Given the description of an element on the screen output the (x, y) to click on. 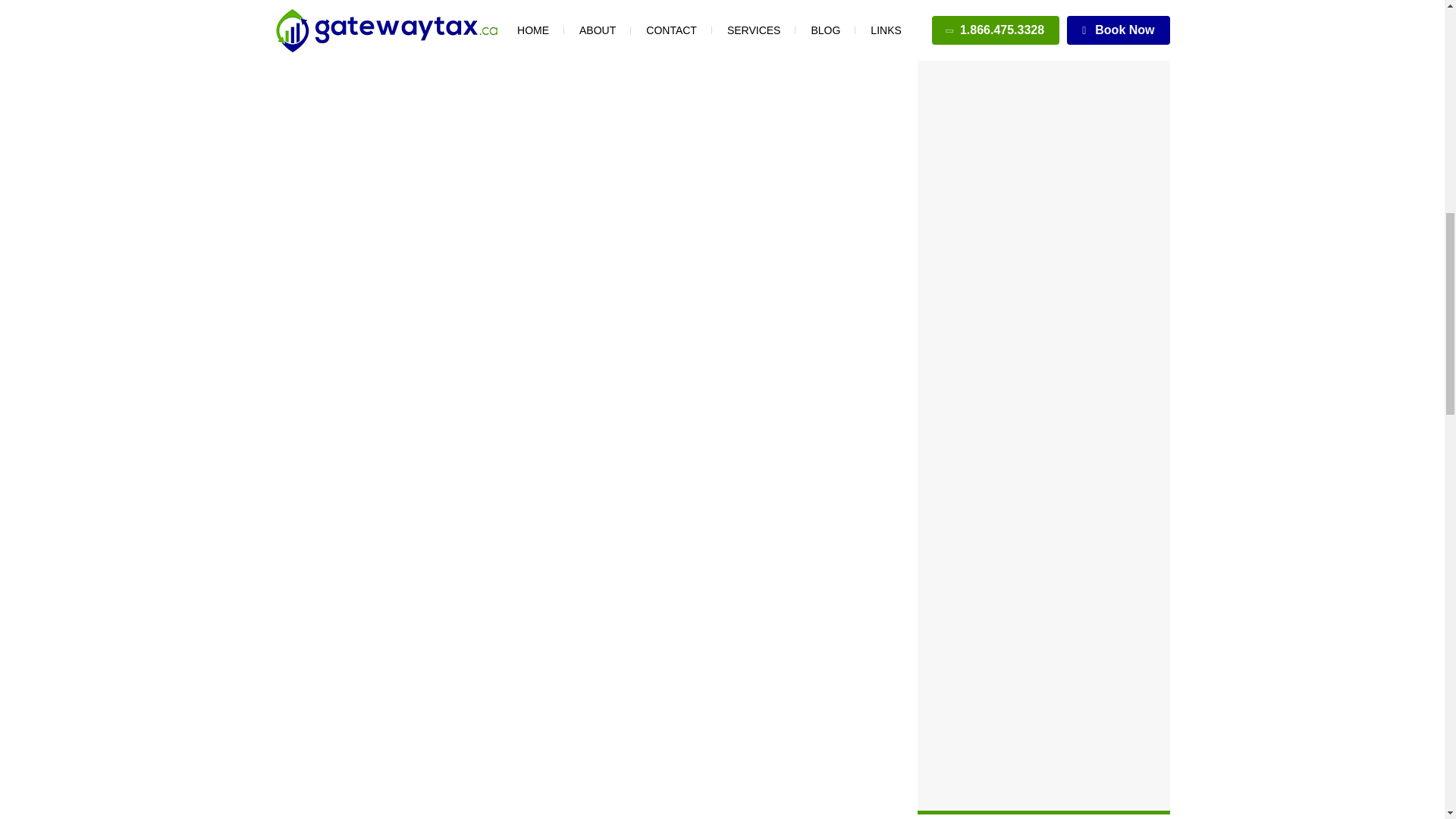
Free Money The Government Won't Tell You About In 2022 1 (577, 29)
